Given the description of an element on the screen output the (x, y) to click on. 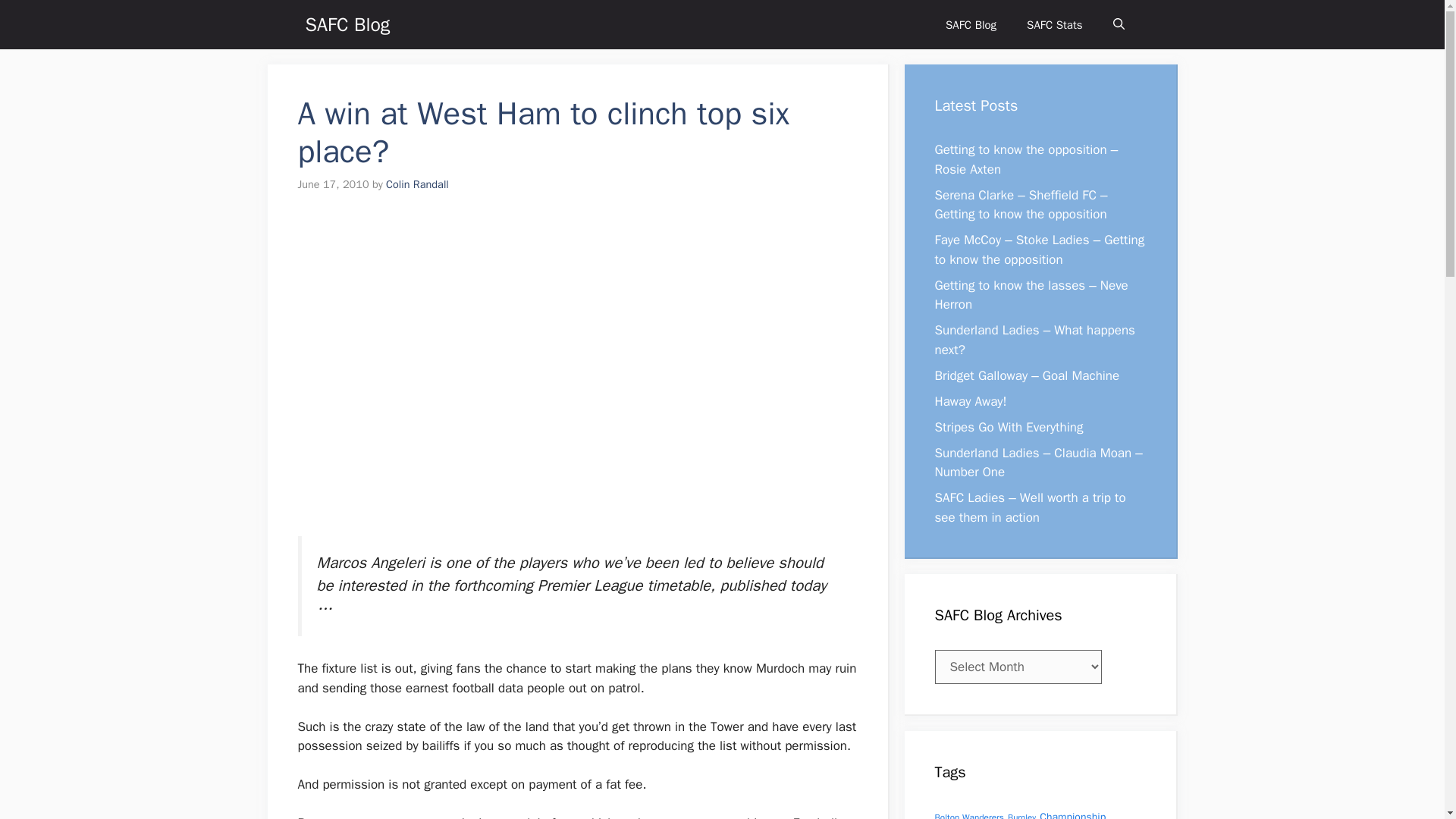
SAFC Blog (347, 24)
Championship (1072, 814)
Colin Randall (416, 183)
Burnley (1021, 815)
Bolton Wanderers (968, 815)
SAFC Blog (970, 23)
Haway Away! (970, 400)
Stripes Go With Everything (1008, 426)
View all posts by Colin Randall (416, 183)
SAFC Stats (1054, 23)
